Given the description of an element on the screen output the (x, y) to click on. 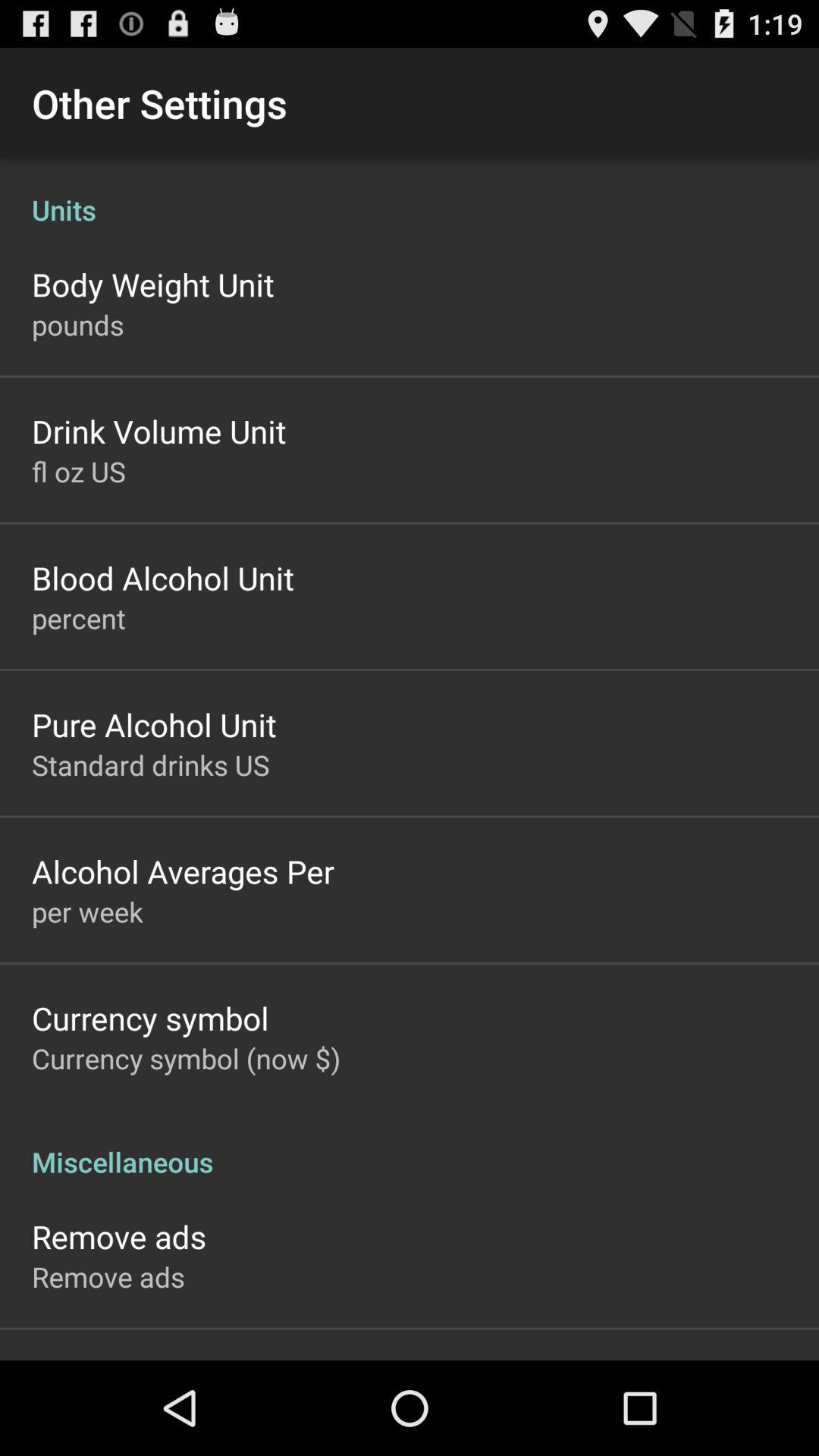
choose app above the fl oz us icon (158, 430)
